Given the description of an element on the screen output the (x, y) to click on. 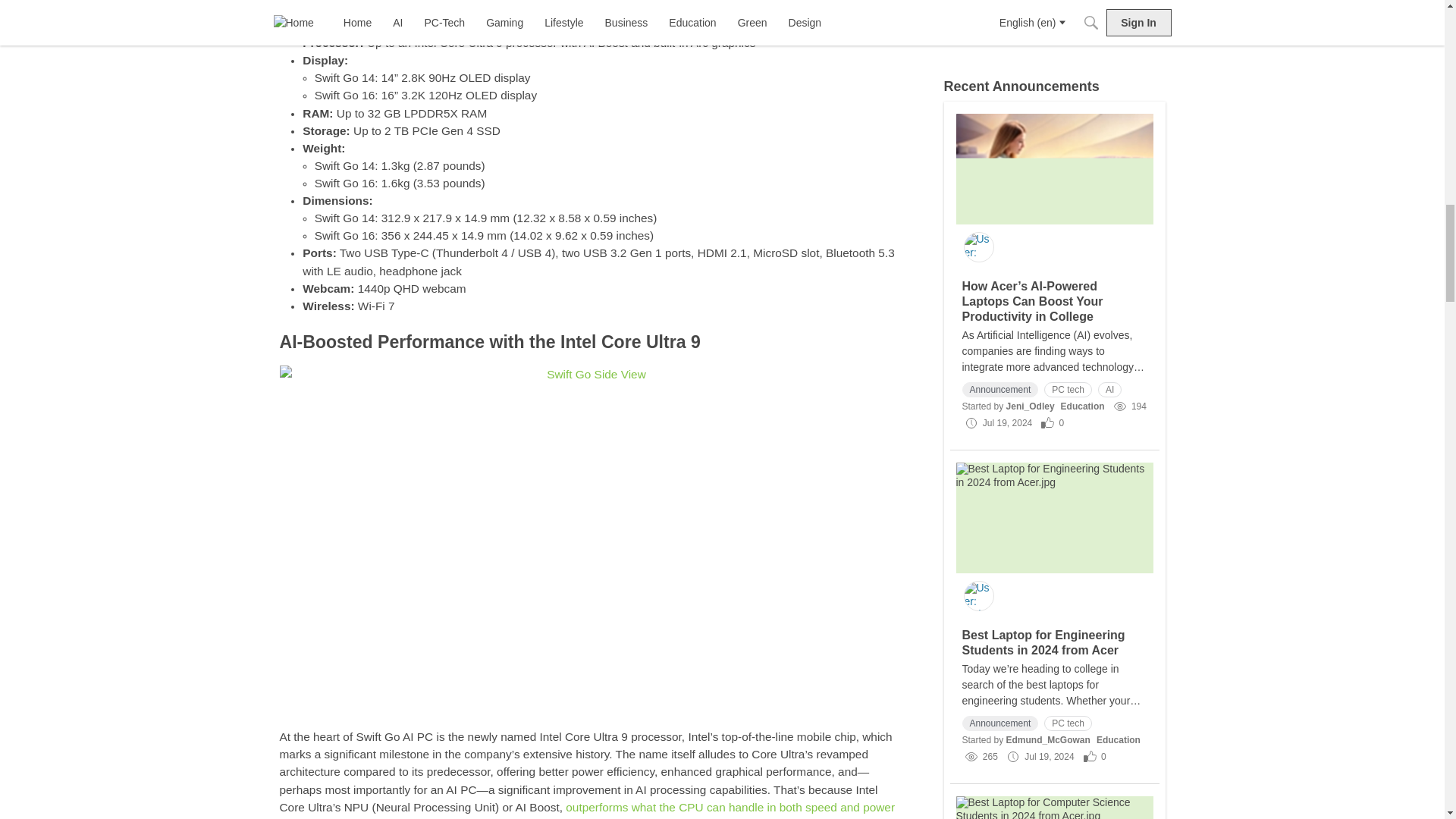
Friday, July 19, 2024 at 3:07 PM (1007, 422)
Friday, July 19, 2024 at 2:32 PM (1049, 756)
14 discussions (1152, 9)
